Given the description of an element on the screen output the (x, y) to click on. 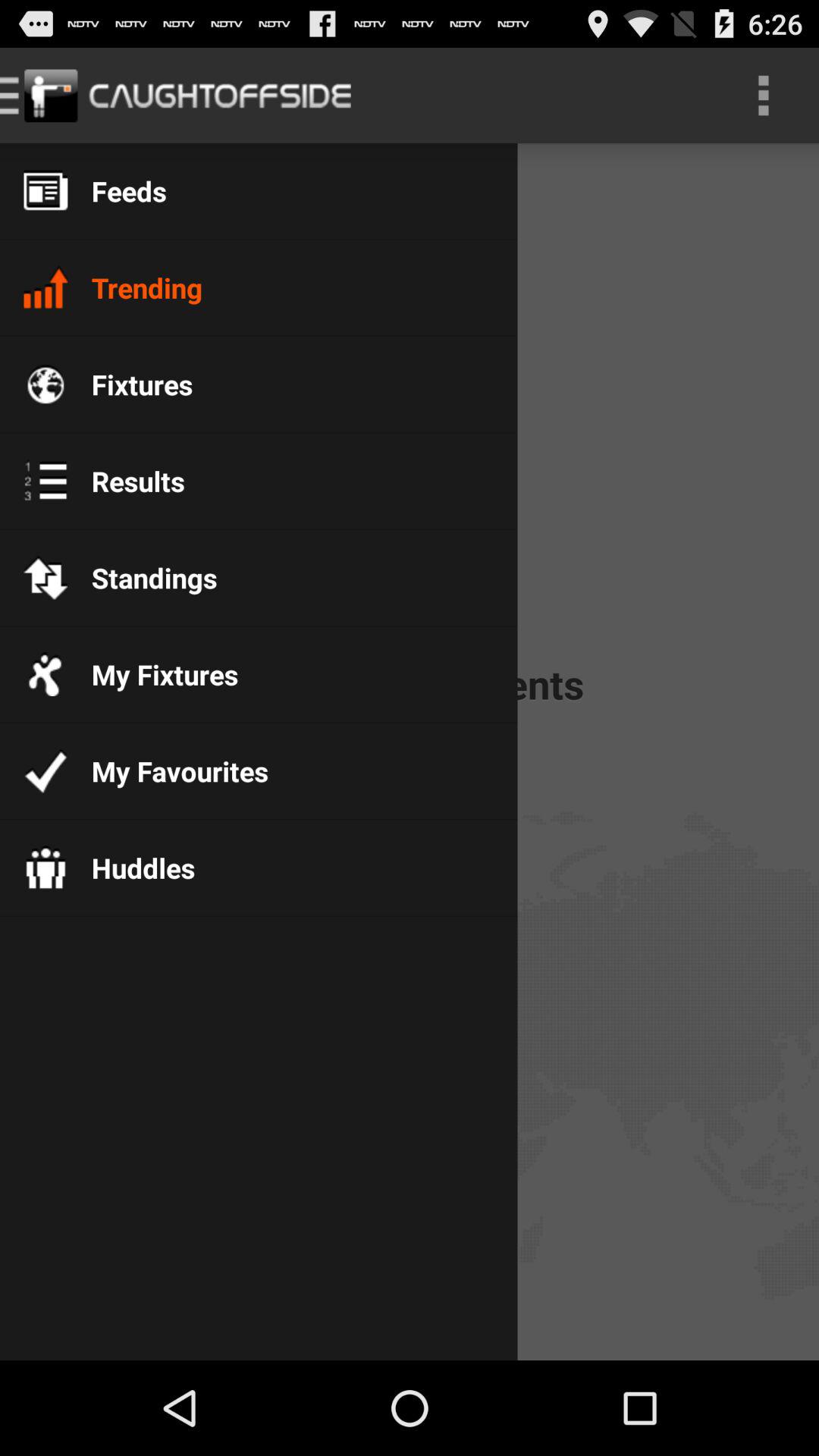
open the standings icon (142, 577)
